Given the description of an element on the screen output the (x, y) to click on. 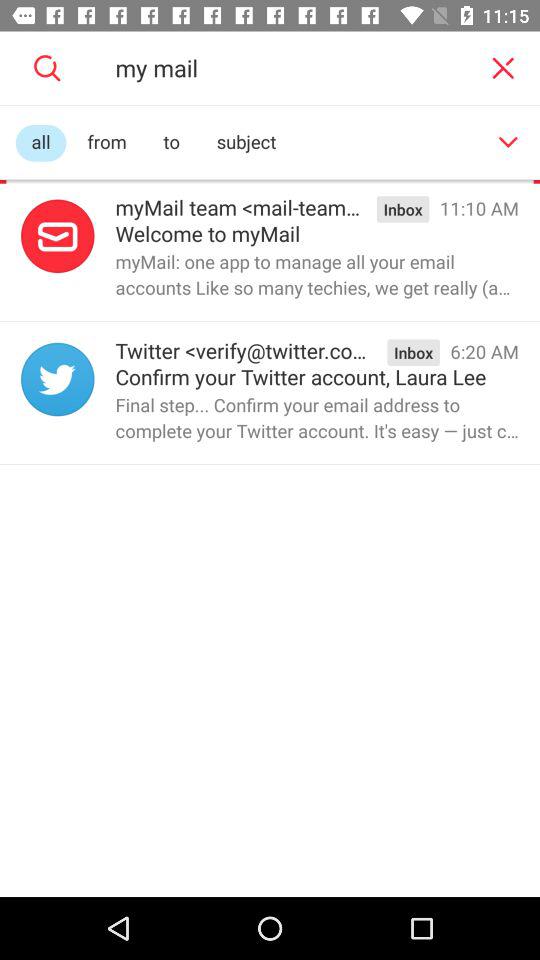
choose the icon next to the subject (507, 142)
